Given the description of an element on the screen output the (x, y) to click on. 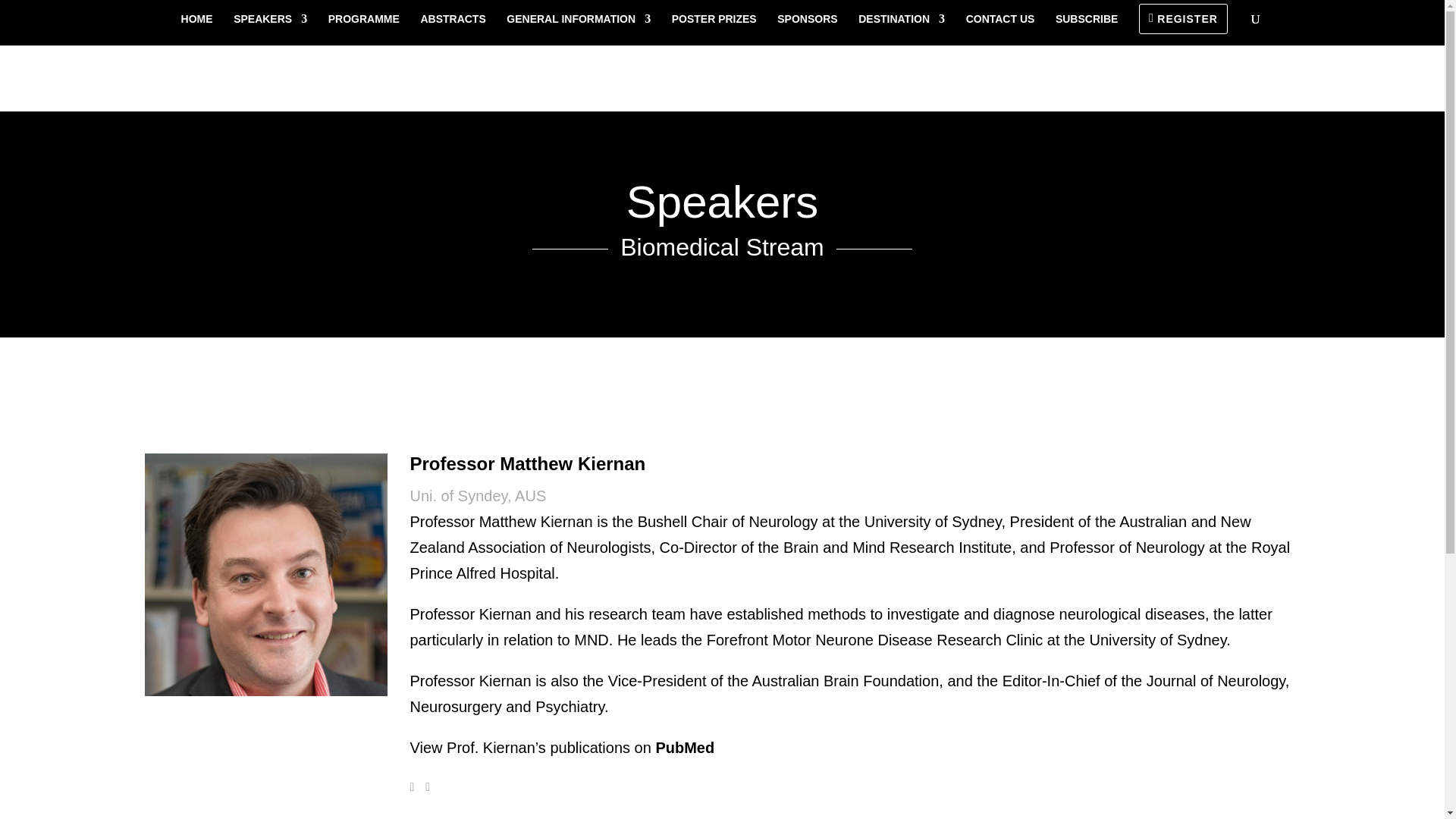
SPONSORS (807, 29)
HOME (196, 29)
PROGRAMME (363, 29)
PubMed (684, 747)
CONTACT US (1000, 29)
GENERAL INFORMATION (578, 29)
DESTINATION (901, 29)
REGISTER (1182, 19)
SPEAKERS (269, 29)
POSTER PRIZES (714, 29)
ABSTRACTS (452, 29)
SUBSCRIBE (1086, 29)
